Given the description of an element on the screen output the (x, y) to click on. 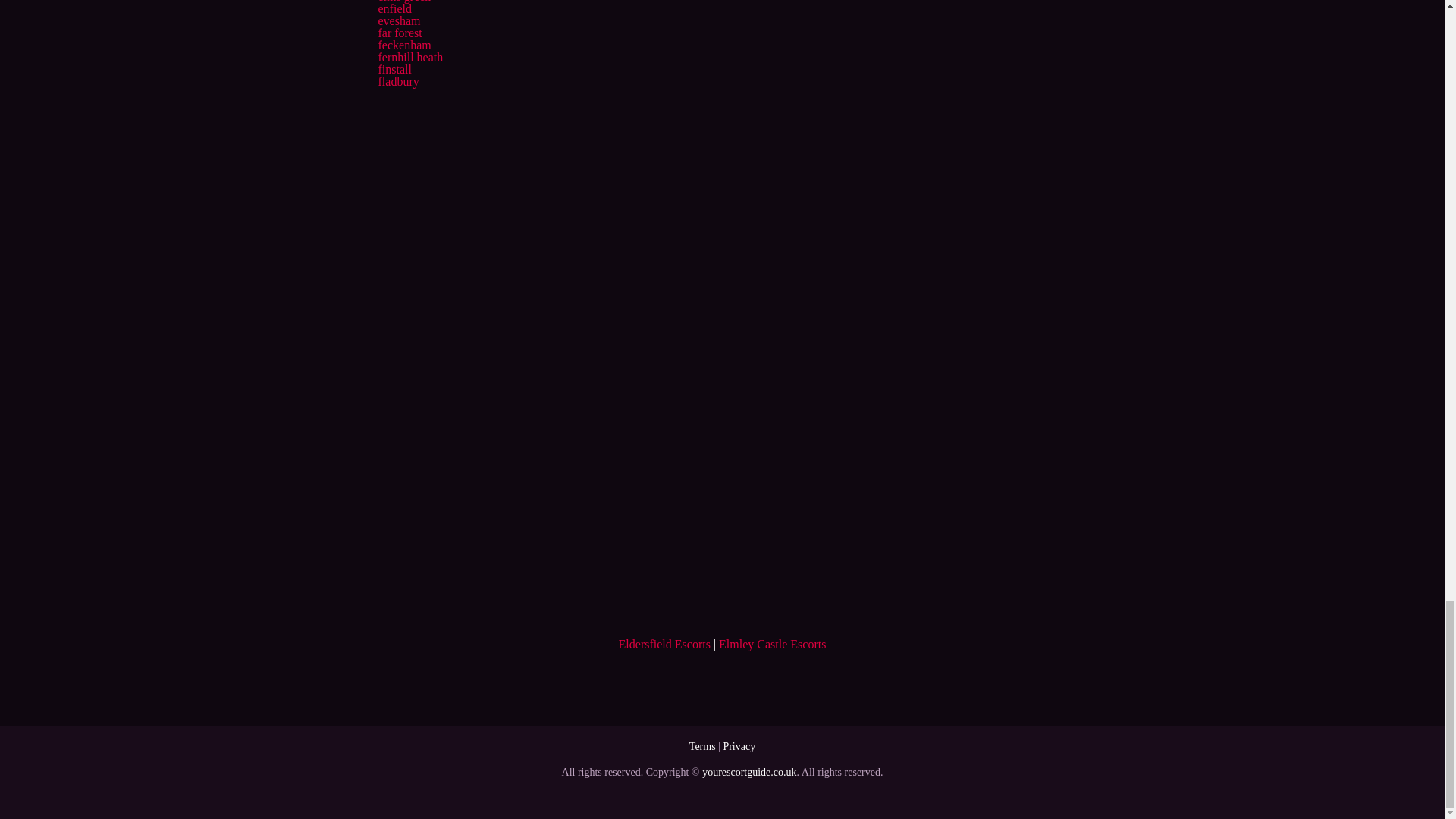
enfield (393, 8)
evesham (398, 20)
Elmley Castle Escorts (772, 644)
far forest (399, 32)
elms green (403, 1)
fernhill heath (409, 56)
finstall (393, 69)
Privacy (738, 746)
Eldersfield Escorts (664, 644)
Terms (702, 746)
